Given the description of an element on the screen output the (x, y) to click on. 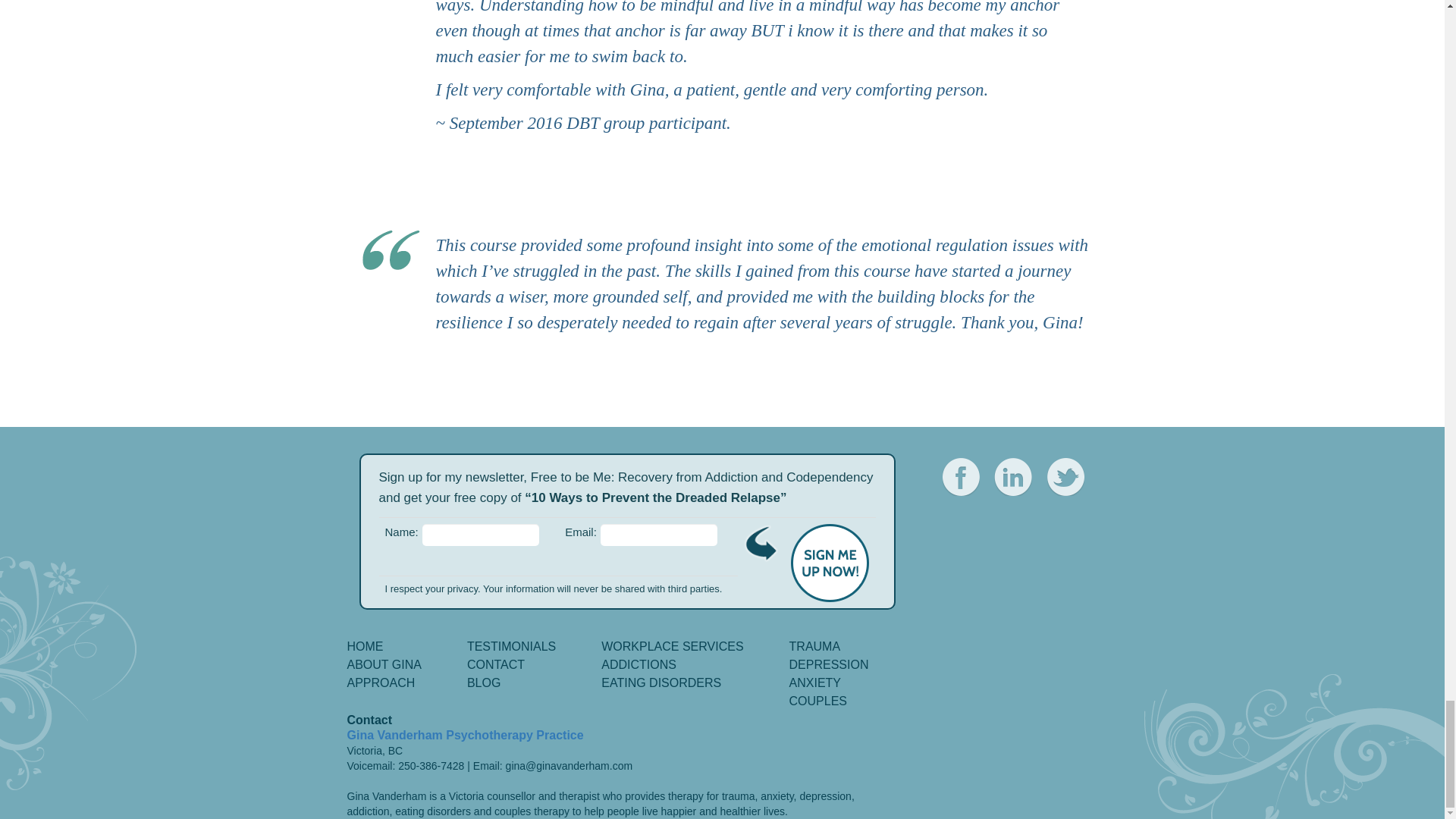
COUPLES (818, 700)
HOME (365, 645)
WORKPLACE SERVICES (671, 645)
ADDICTIONS (639, 664)
TESTIMONIALS (511, 645)
APPROACH (380, 682)
TRAUMA (815, 645)
DEPRESSION (829, 664)
CONTACT (495, 664)
EATING DISORDERS (660, 682)
ABOUT GINA (384, 664)
ANXIETY (815, 682)
Gina Vanderham Psychotherapy Practice (465, 735)
BLOG (483, 682)
